Given the description of an element on the screen output the (x, y) to click on. 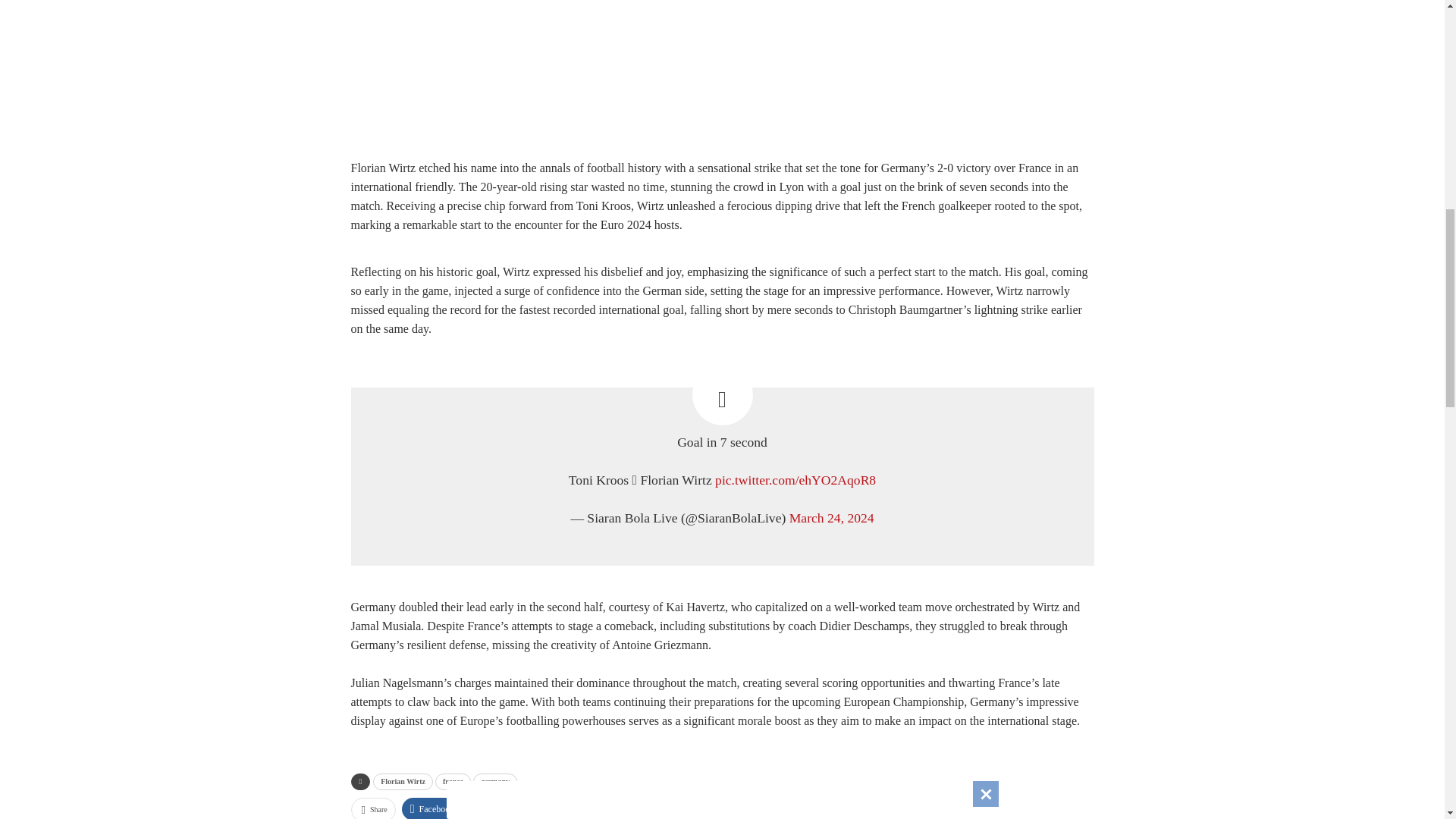
Advertisement (721, 74)
Florian Wirtz (402, 781)
March 24, 2024 (832, 517)
ReddIt (611, 808)
Twitter (492, 808)
france (452, 781)
Facebook (432, 808)
germany (494, 781)
